Given the description of an element on the screen output the (x, y) to click on. 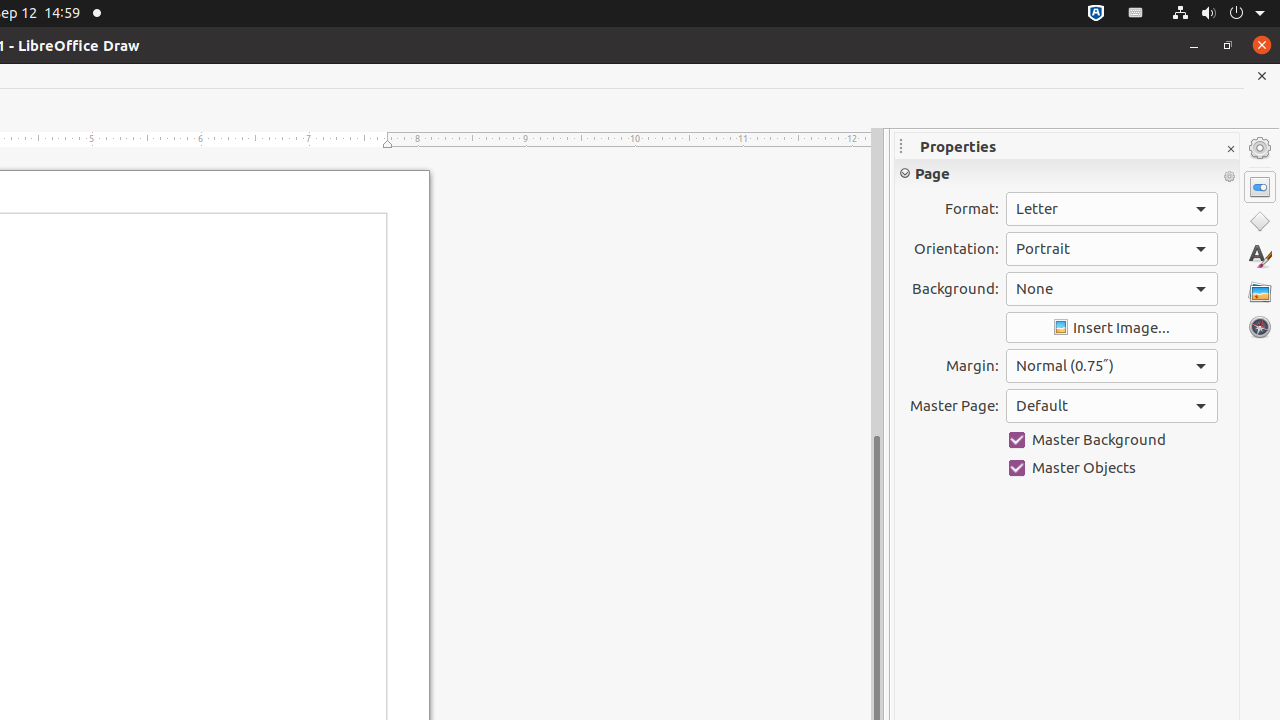
Navigator Element type: radio-button (1260, 327)
Close Sidebar Deck Element type: push-button (1230, 149)
Orientation: Element type: combo-box (1112, 249)
Master Objects Element type: check-box (1112, 468)
Background: Element type: combo-box (1112, 289)
